Given the description of an element on the screen output the (x, y) to click on. 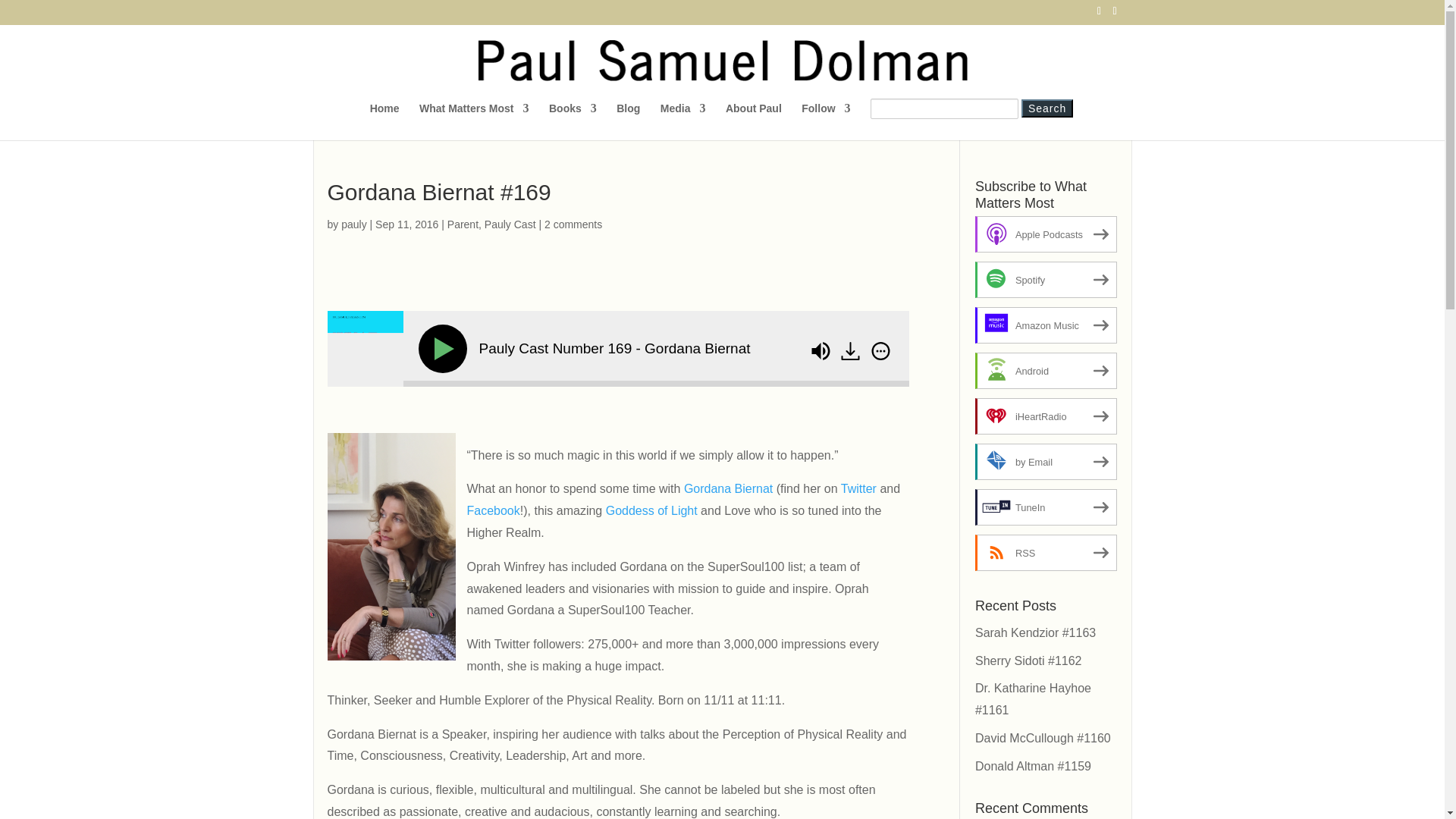
Home (383, 119)
Subscribe on Apple Podcasts (1046, 234)
Subscribe on Android (1046, 370)
Follow (826, 119)
Search (1047, 108)
Subscribe on TuneIn (1046, 506)
About Paul (753, 119)
Subscribe via RSS (1046, 552)
Books (572, 119)
Download (850, 351)
